Given the description of an element on the screen output the (x, y) to click on. 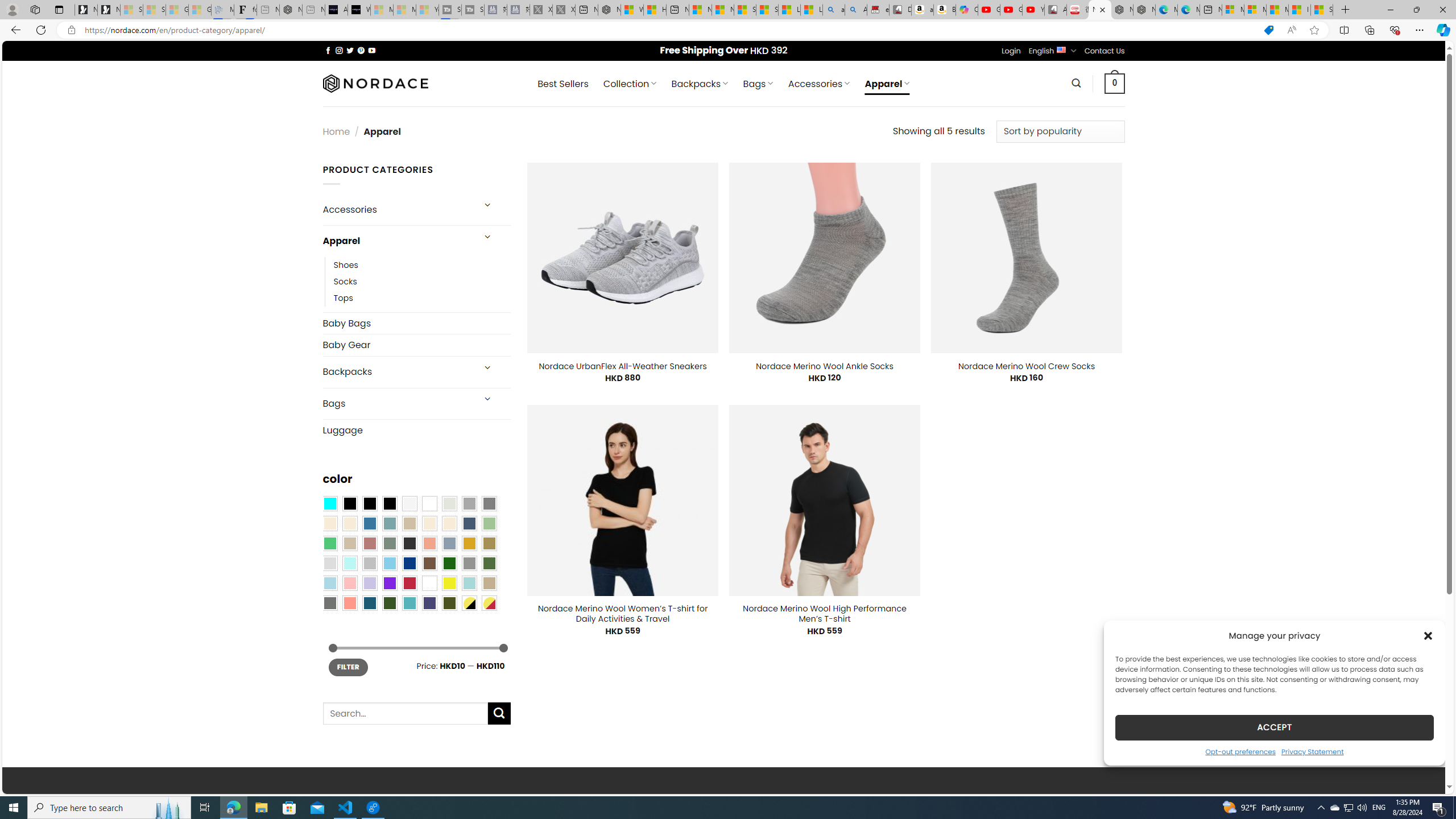
Light Purple (369, 582)
Sage (389, 542)
Light Gray (329, 562)
Copilot (966, 9)
Privacy Statement (1312, 750)
Go to top (1421, 777)
